Given the description of an element on the screen output the (x, y) to click on. 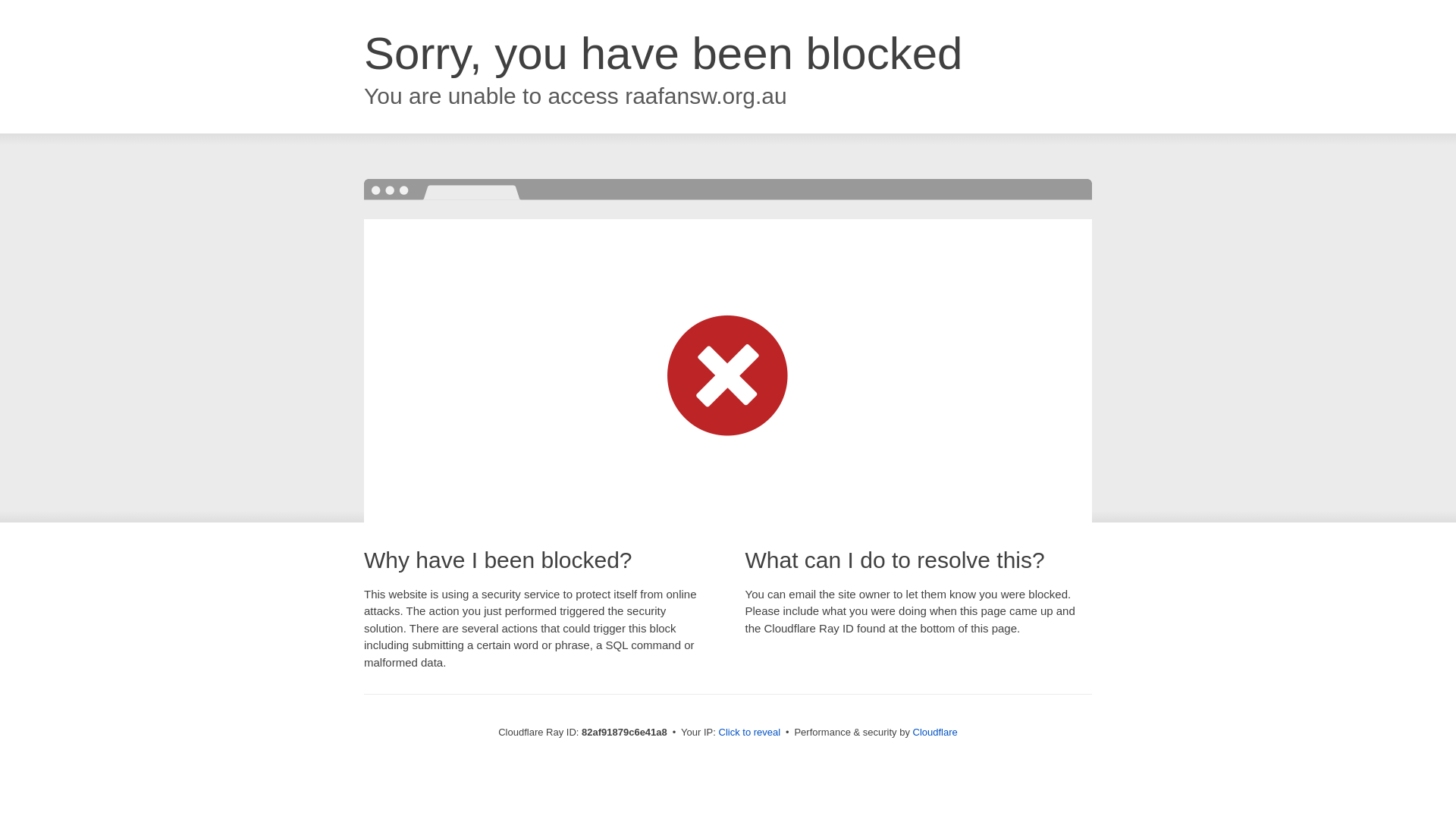
Cloudflare Element type: text (935, 731)
Click to reveal Element type: text (749, 732)
